Given the description of an element on the screen output the (x, y) to click on. 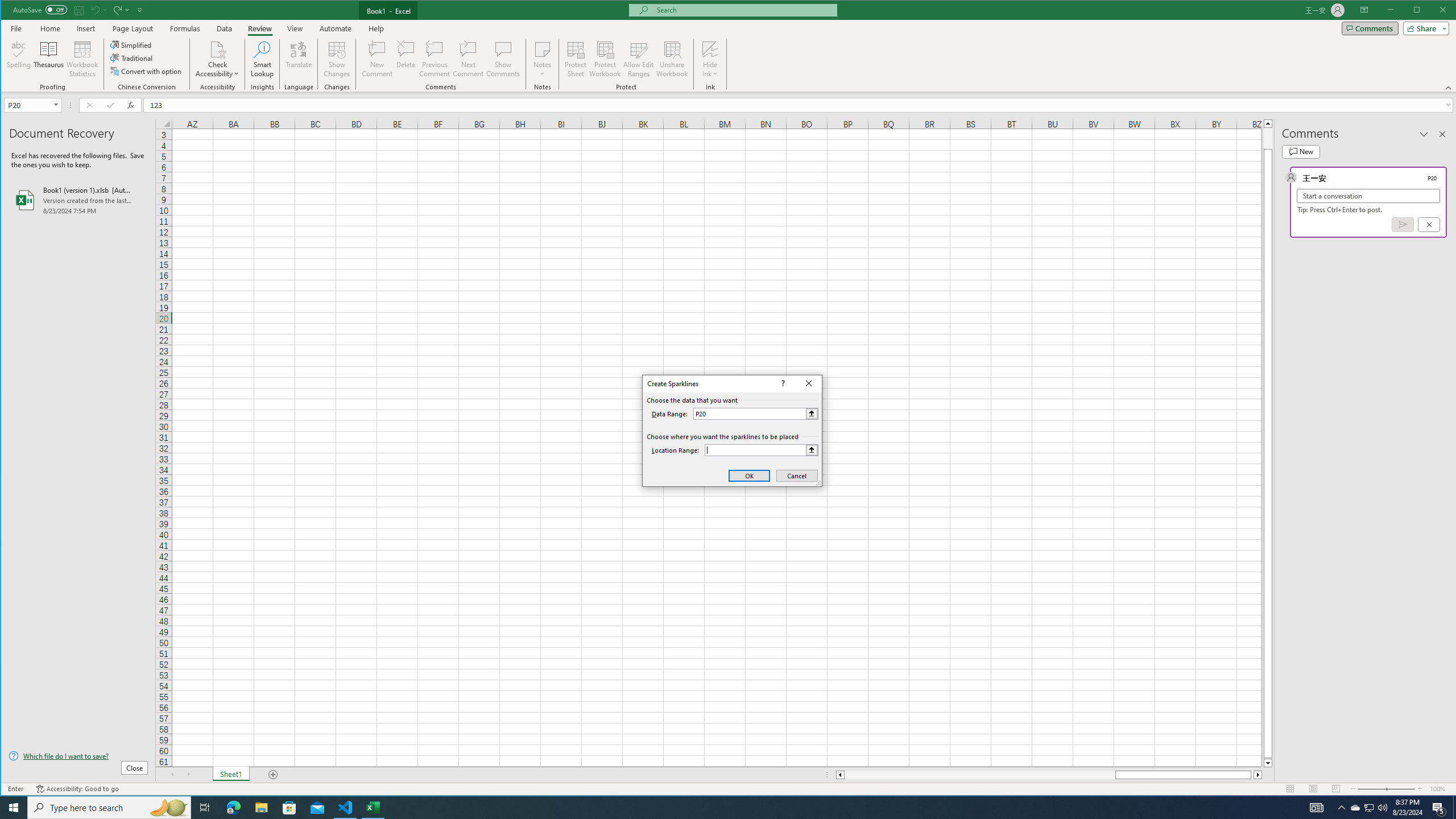
New Comment (377, 59)
File Explorer (261, 807)
Hide Ink (710, 59)
User Promoted Notification Area (1368, 807)
Unshare Workbook (671, 59)
Previous Comment (434, 59)
Location Range (761, 449)
Traditional (132, 57)
